Given the description of an element on the screen output the (x, y) to click on. 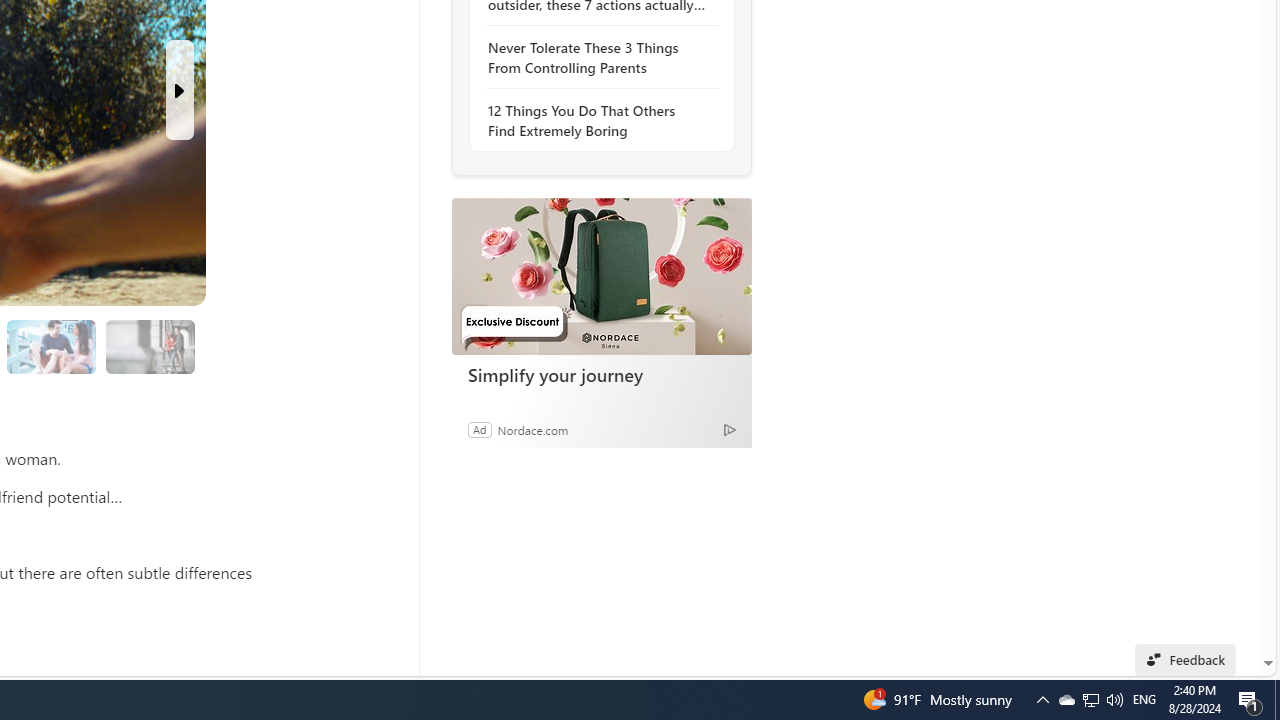
More options (736, 543)
See more hotels (694, 175)
